Given the description of an element on the screen output the (x, y) to click on. 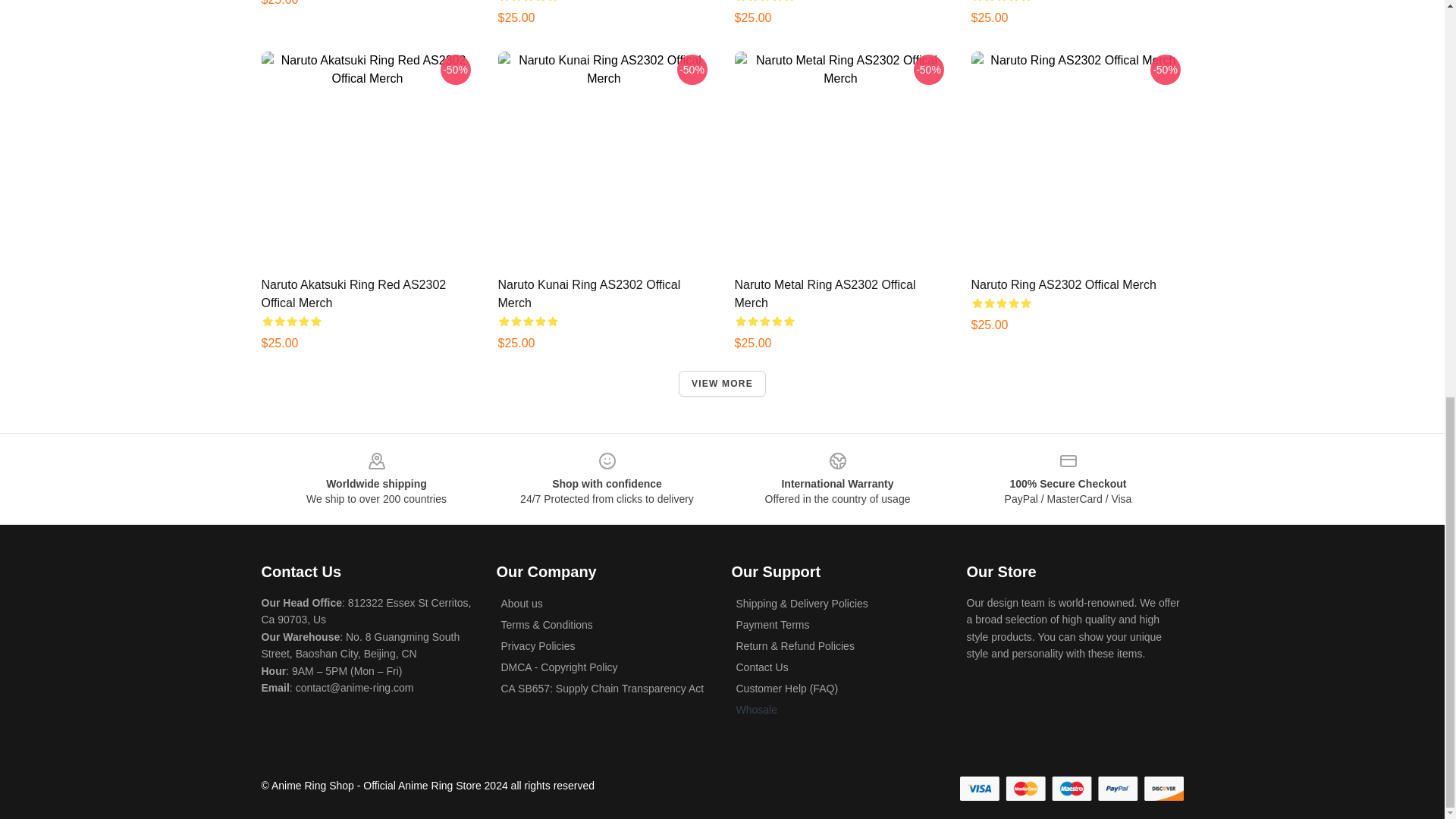
Naruto Akatsuki Ring Red AS2302 Offical Merch (352, 293)
Naruto Metal Ring AS2302 Offical Merch (824, 293)
Naruto Kunai Ring AS2302 Offical Merch (588, 293)
